Given the description of an element on the screen output the (x, y) to click on. 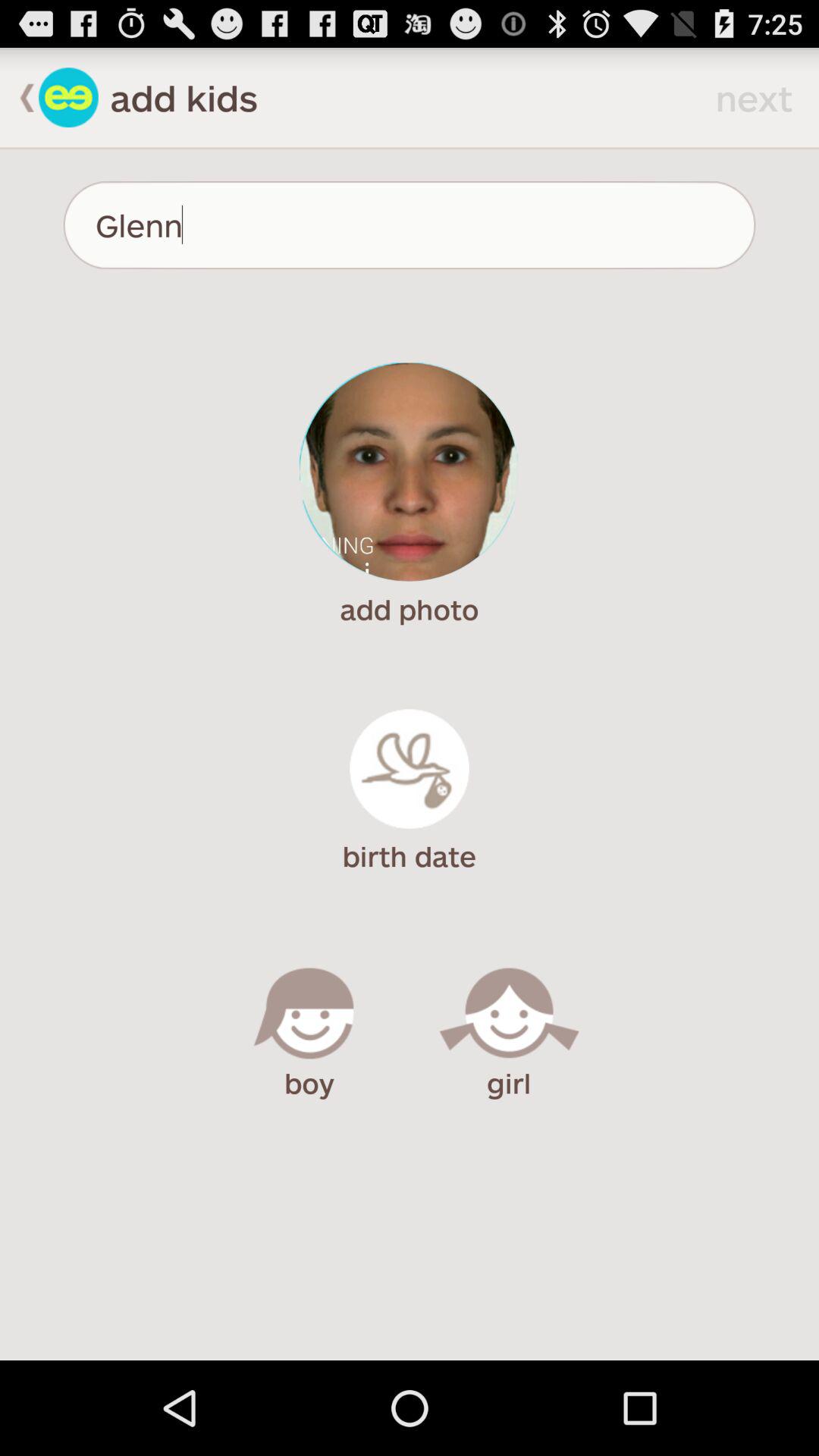
click on text field glenn (409, 224)
click on image above add photo (408, 471)
click on girl icon in the bottom (509, 1017)
